Given the description of an element on the screen output the (x, y) to click on. 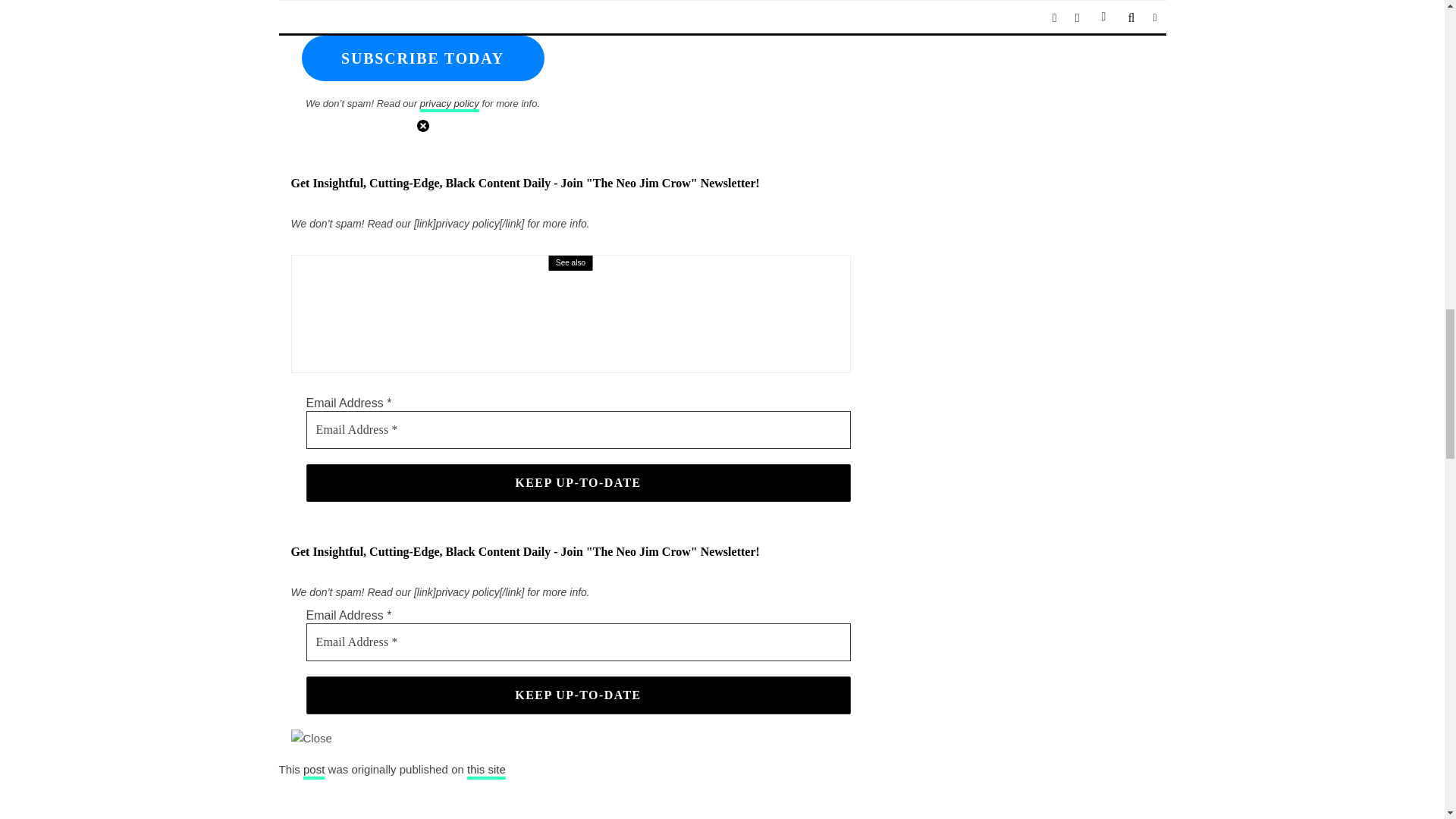
Email Address (422, 10)
this site (486, 768)
Subscribe today (422, 58)
privacy policy (449, 102)
Keep Up-to-date (577, 695)
Email Address (577, 641)
post (313, 768)
Keep Up-to-date (577, 483)
Subscribe today (422, 58)
Keep Up-to-date (577, 483)
